Given the description of an element on the screen output the (x, y) to click on. 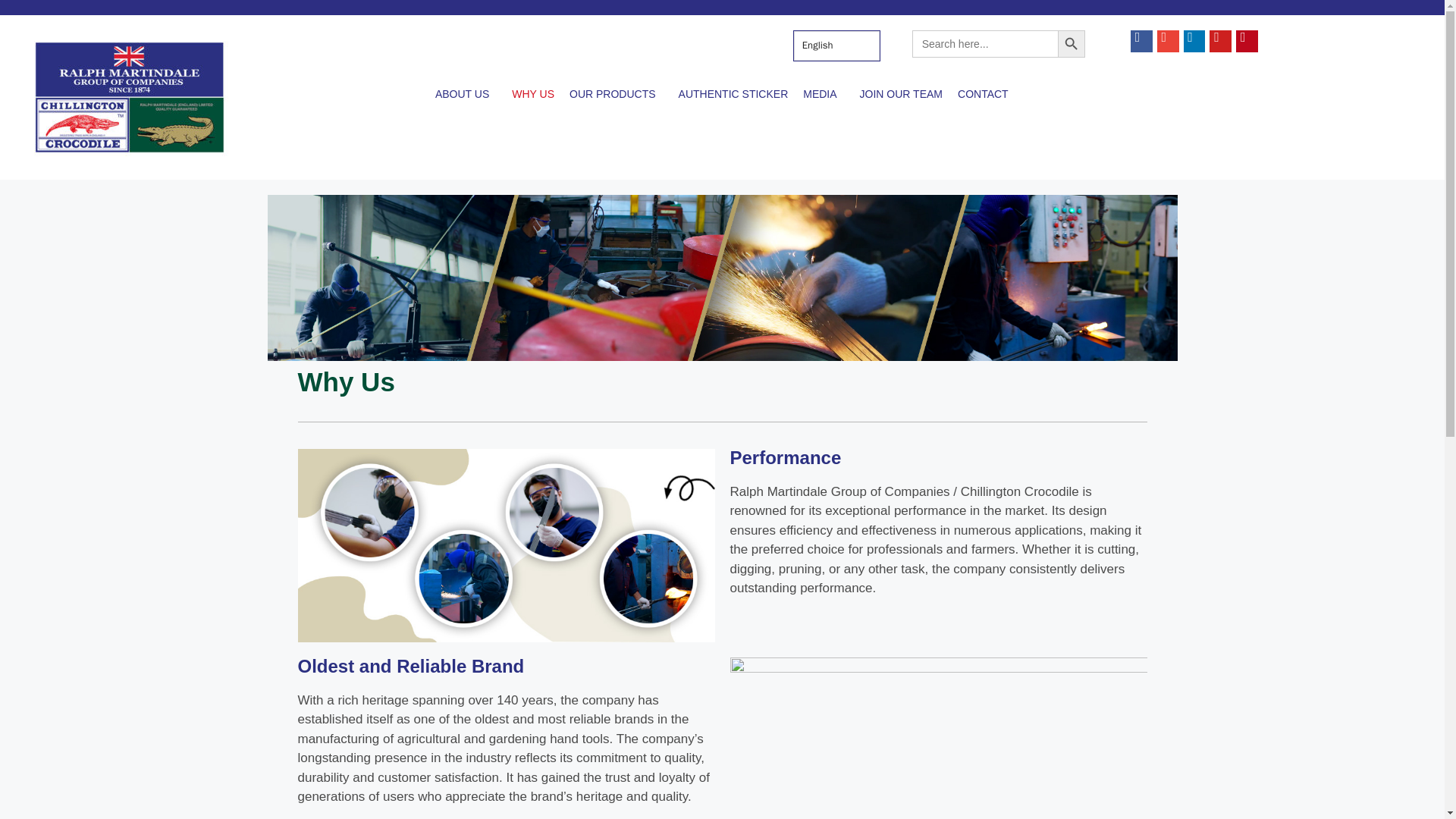
Search Button (1071, 43)
OUR PRODUCTS (616, 93)
ABOUT US (465, 93)
WHY US (532, 93)
